Given the description of an element on the screen output the (x, y) to click on. 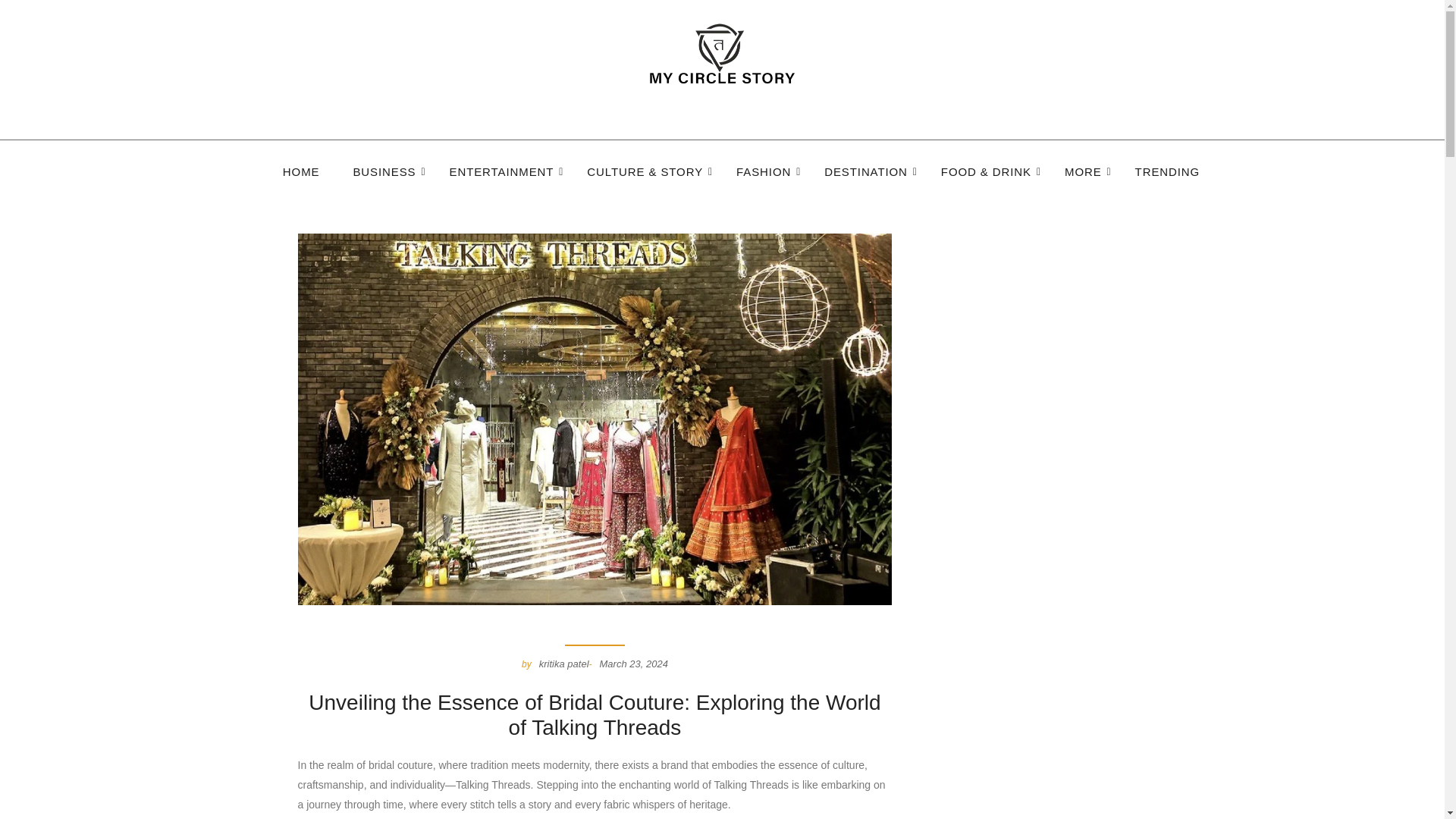
FASHION (762, 172)
HOME (301, 172)
DESTINATION (866, 172)
ENTERTAINMENT (502, 172)
MORE (1082, 172)
TRENDING (1167, 172)
BUSINESS (384, 172)
